Given the description of an element on the screen output the (x, y) to click on. 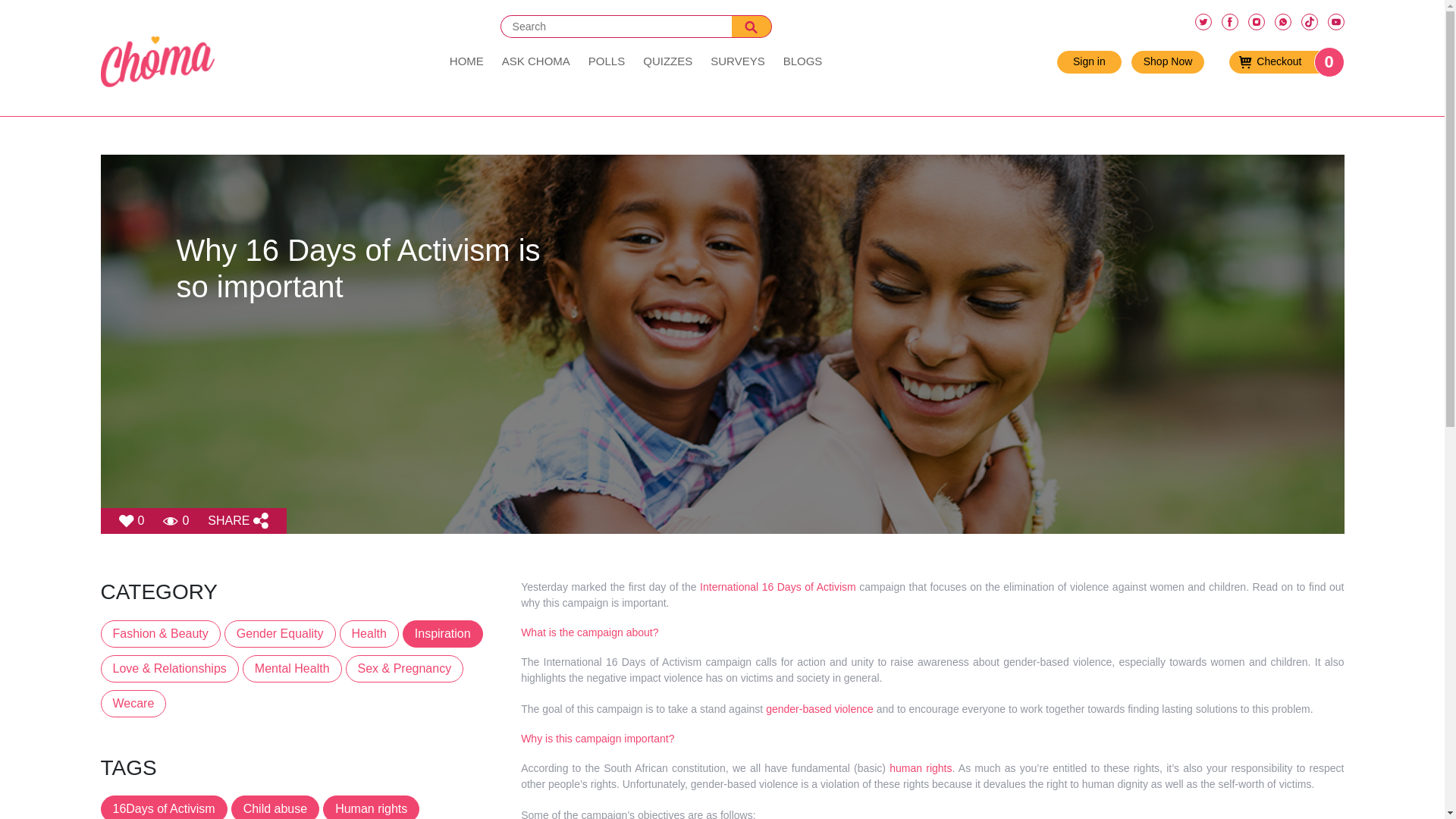
HOME (467, 61)
Wecare (135, 707)
Home (1277, 61)
Blogs (467, 61)
ASK CHOMA (802, 61)
Sign in (536, 61)
Health (1089, 61)
QUIZZES (368, 633)
0 (667, 61)
Wecare (175, 520)
SURVEYS (132, 703)
Inspiration (737, 61)
Ask Choma (443, 633)
Health (536, 61)
